Given the description of an element on the screen output the (x, y) to click on. 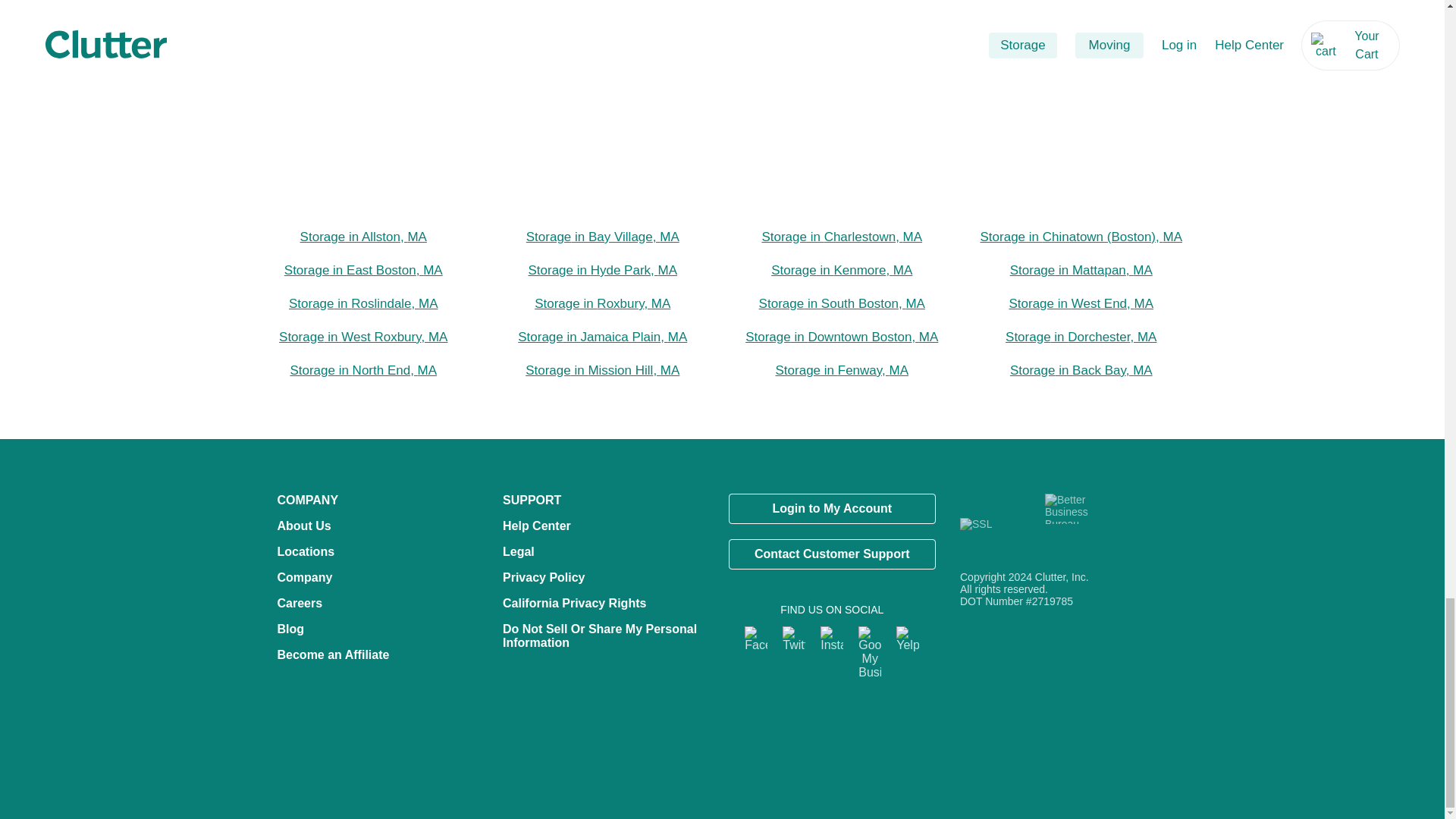
Storage in Kenmore, MA (841, 269)
Storage in Downtown Boston, MA (841, 336)
Storage in Allston, MA (362, 237)
Storage in South Boston, MA (841, 303)
Storage in Jamaica Plain, MA (602, 336)
Storage in West Roxbury, MA (362, 336)
Storage in Roslindale, MA (363, 303)
Storage in Roxbury, MA (601, 303)
Storage in Charlestown, MA (841, 237)
Storage in Fenway, MA (842, 370)
